Given the description of an element on the screen output the (x, y) to click on. 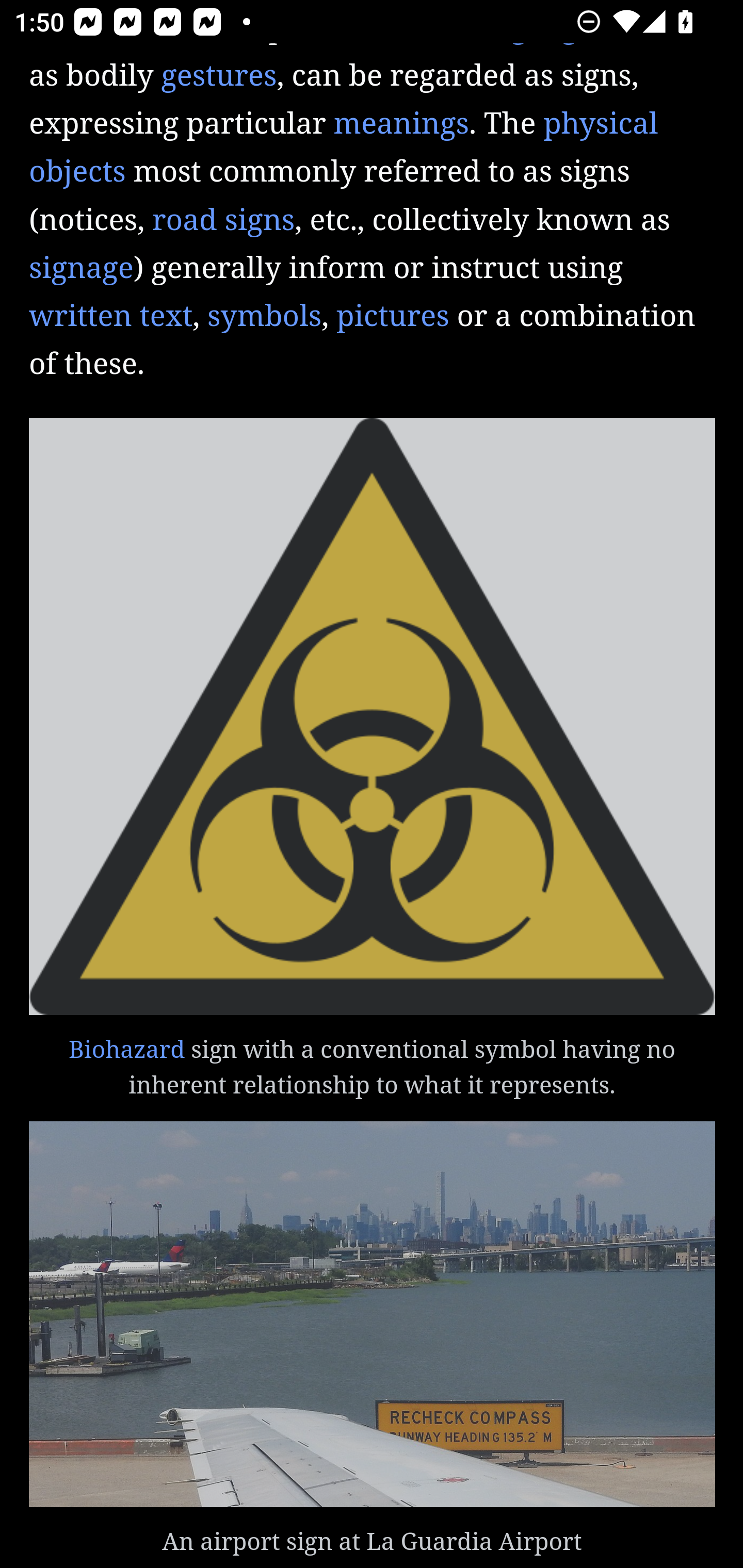
gestures (218, 77)
physical objects (343, 149)
meanings (400, 126)
road signs (223, 221)
signage (80, 268)
written text (110, 317)
symbols (264, 317)
pictures (392, 317)
480px-Biohazard.svg (372, 717)
Biohazard (126, 1051)
1280px-LGA_recheck_compass_jeh (372, 1315)
